Given the description of an element on the screen output the (x, y) to click on. 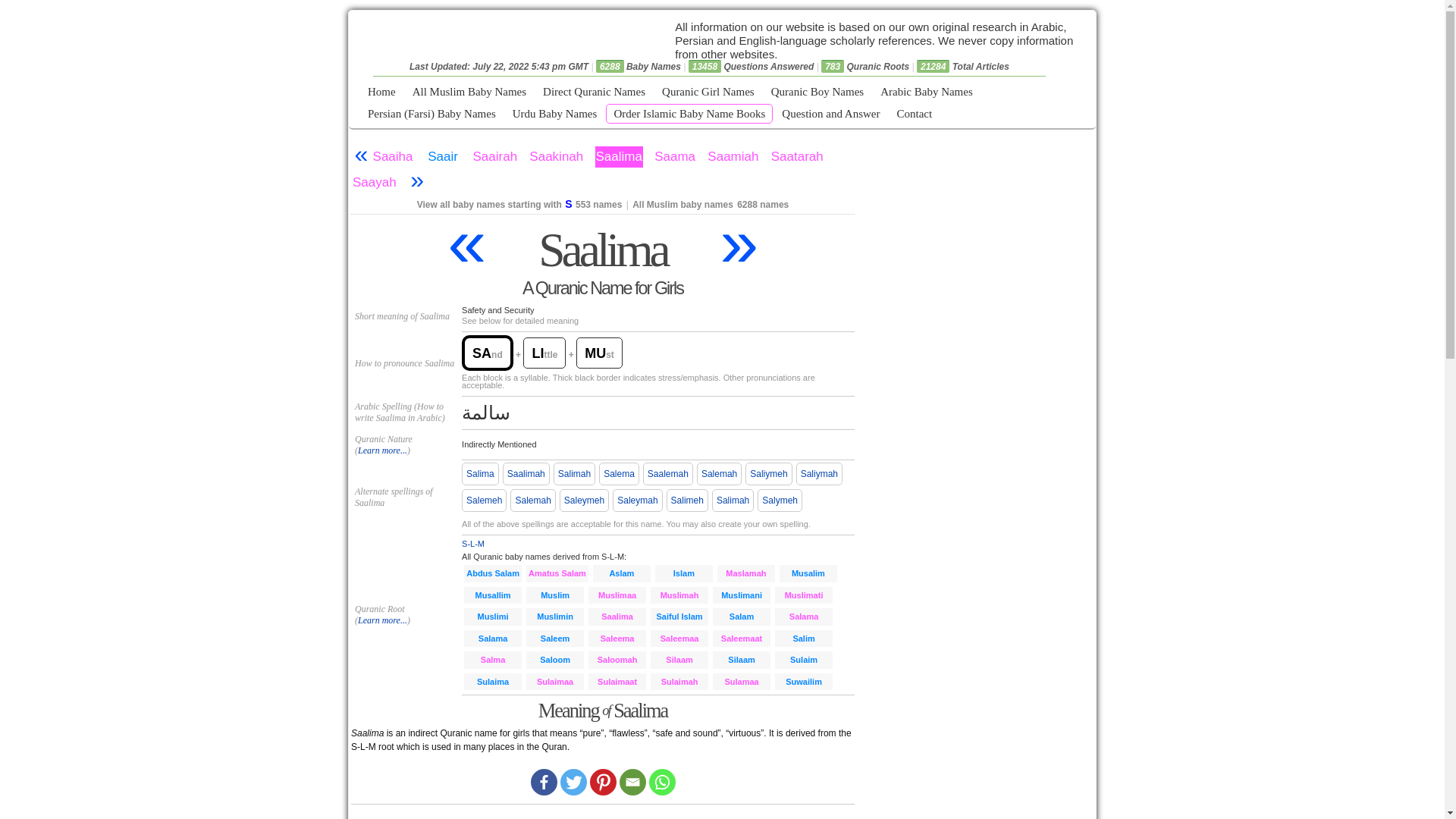
Saairah name meaning and description (494, 156)
Home (381, 91)
Question and Answer (830, 113)
Saair (443, 156)
Saama name meaning and description (674, 156)
Arabic Baby Names (925, 91)
Quranic Girl Names (707, 91)
Order Islamic Baby Name Books (689, 113)
Saalima (619, 156)
Urdu Baby Names (555, 113)
